Given the description of an element on the screen output the (x, y) to click on. 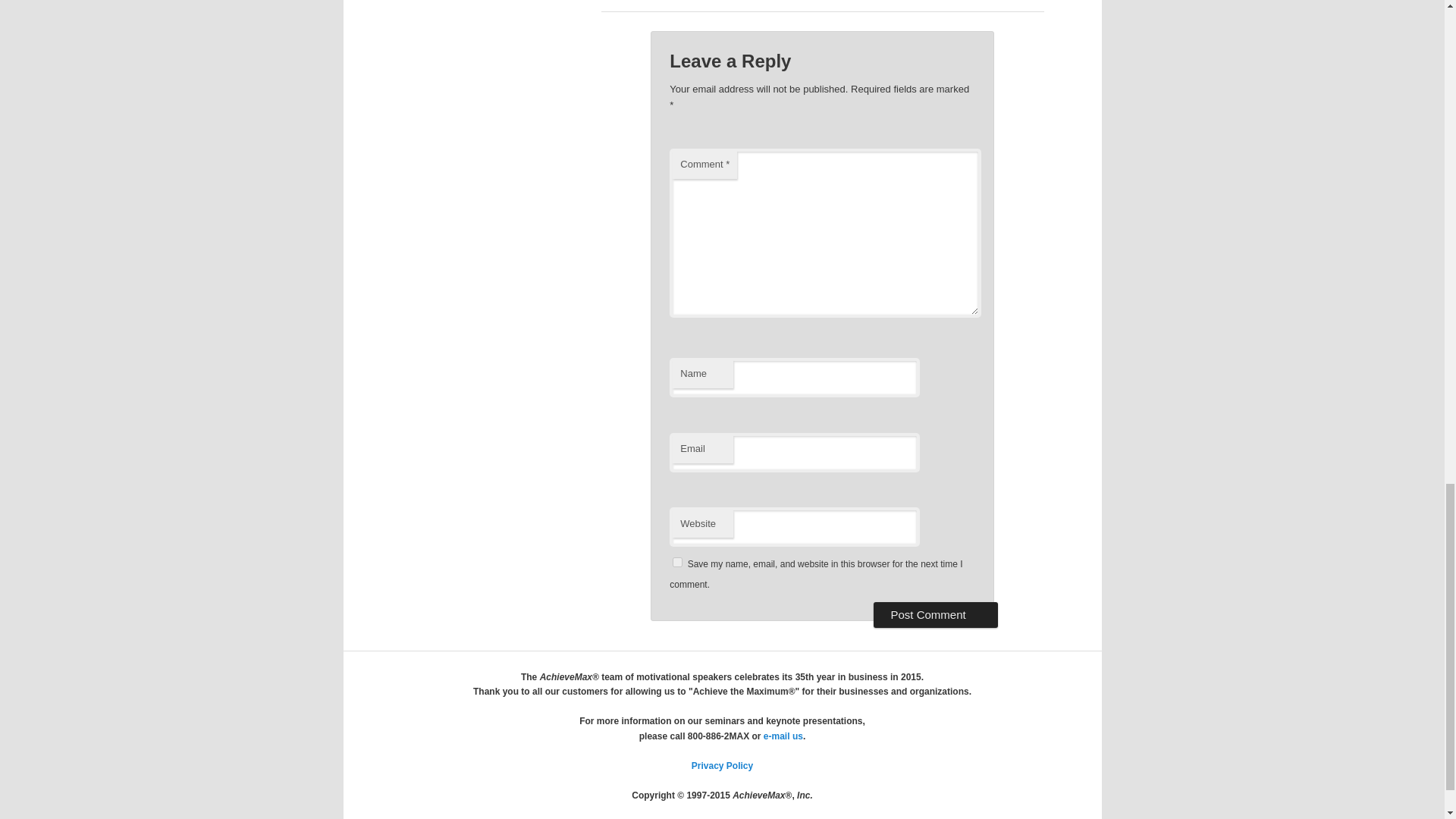
Post Comment (935, 614)
yes (677, 562)
